Given the description of an element on the screen output the (x, y) to click on. 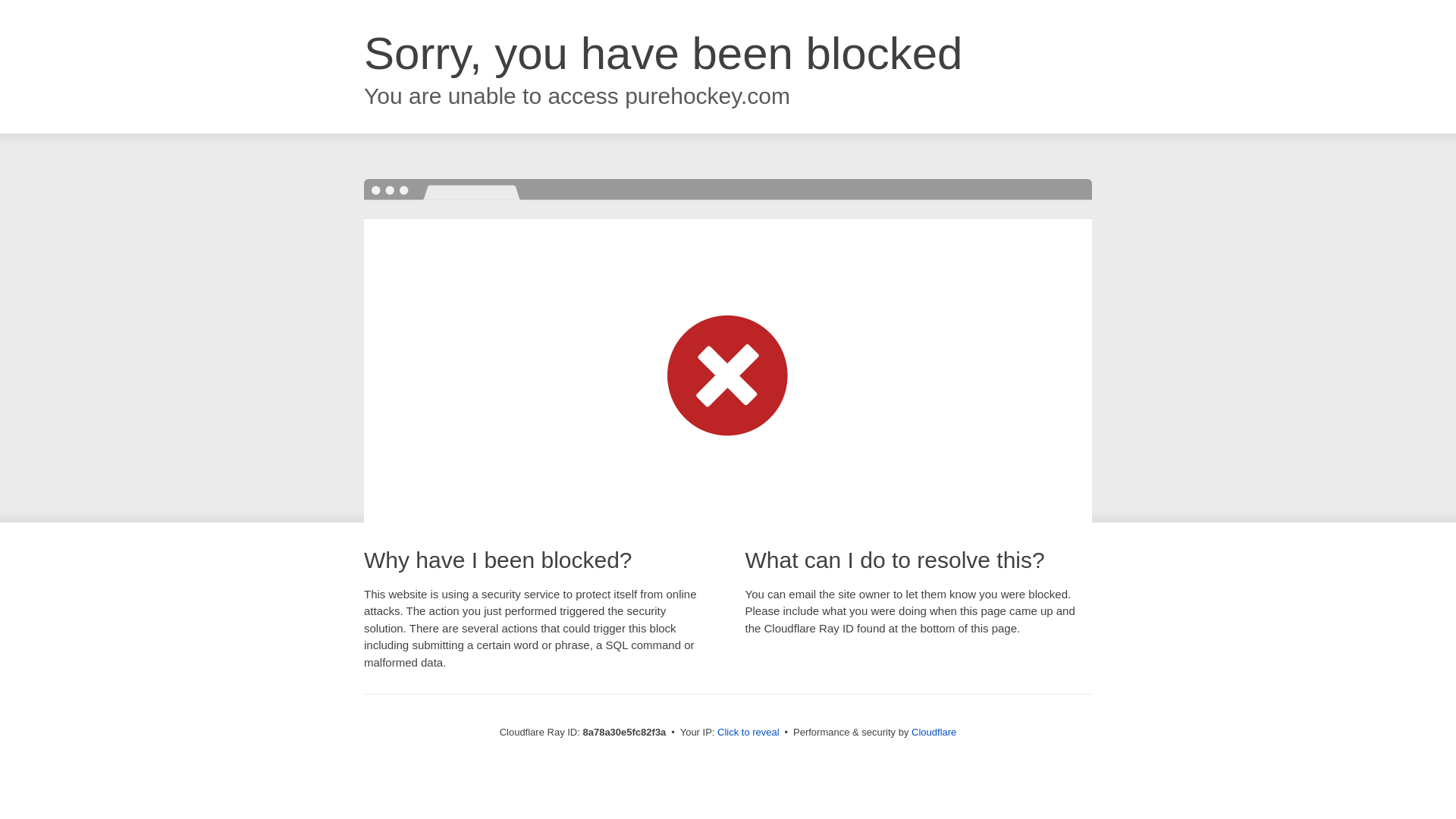
Click to reveal (747, 732)
Cloudflare (933, 731)
